Given the description of an element on the screen output the (x, y) to click on. 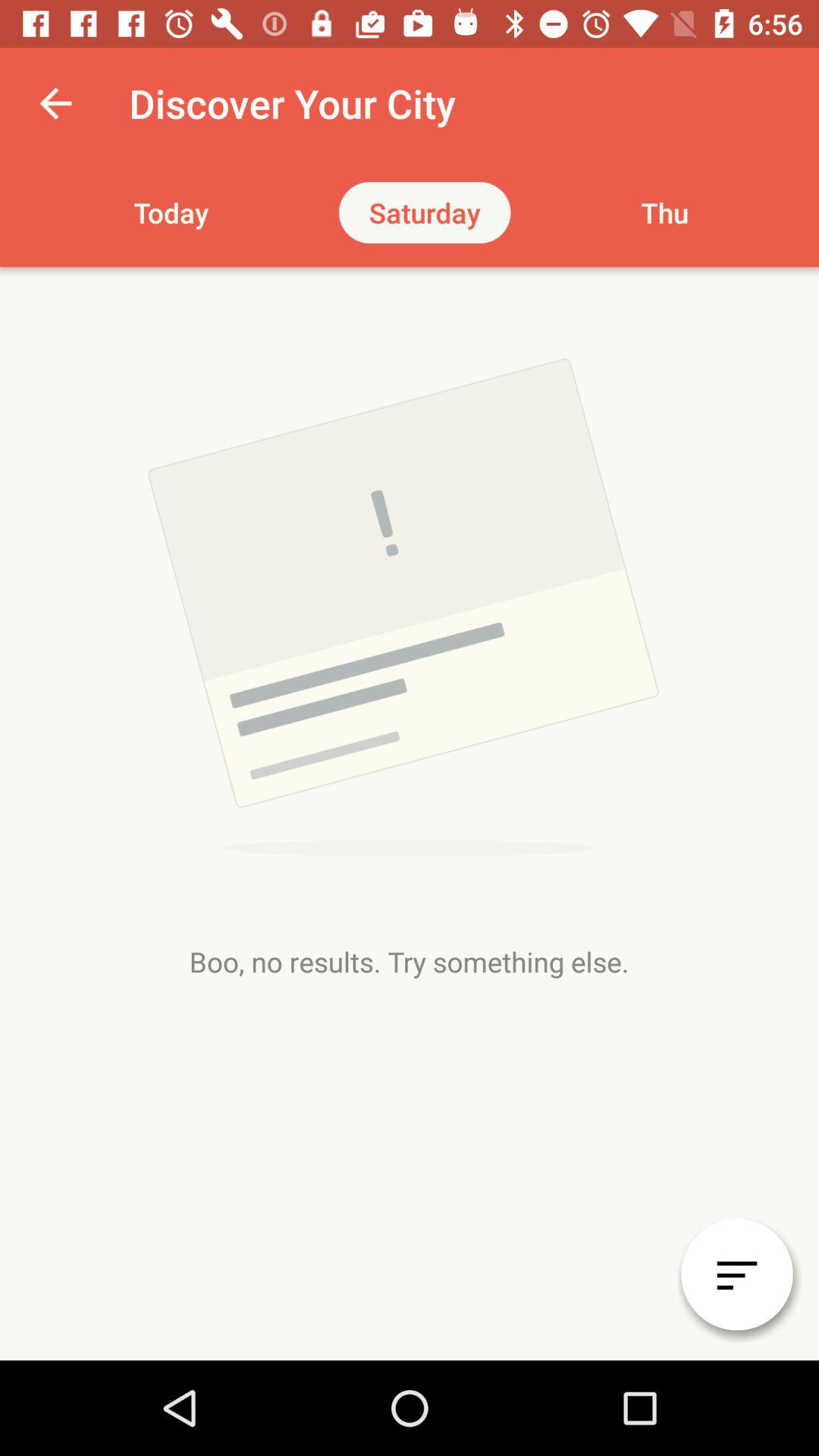
select the app next to  discover your city item (55, 103)
